Given the description of an element on the screen output the (x, y) to click on. 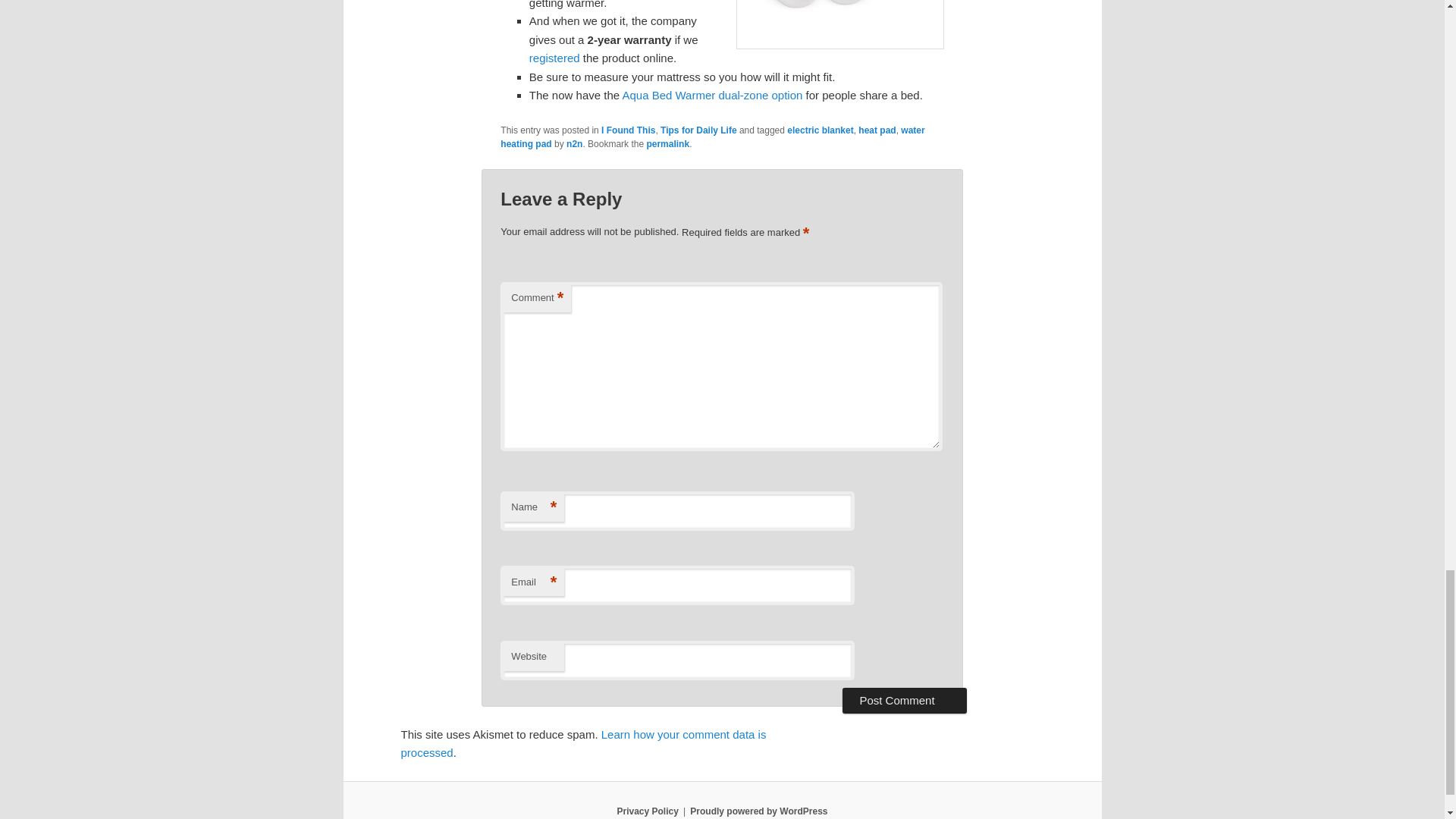
Post Comment (904, 700)
water heating pad (712, 137)
registered (554, 57)
Post Comment (904, 700)
Privacy Policy (646, 810)
Tips for Daily Life (698, 130)
Permalink to Better, Safer Than The Electric Blanket (667, 143)
I Found This (628, 130)
n2n (574, 143)
permalink (667, 143)
Semantic Personal Publishing Platform (758, 810)
heat pad (877, 130)
Aqua Bed Warmer dual-zone option (711, 94)
Proudly powered by WordPress (758, 810)
Learn how your comment data is processed (582, 743)
